Given the description of an element on the screen output the (x, y) to click on. 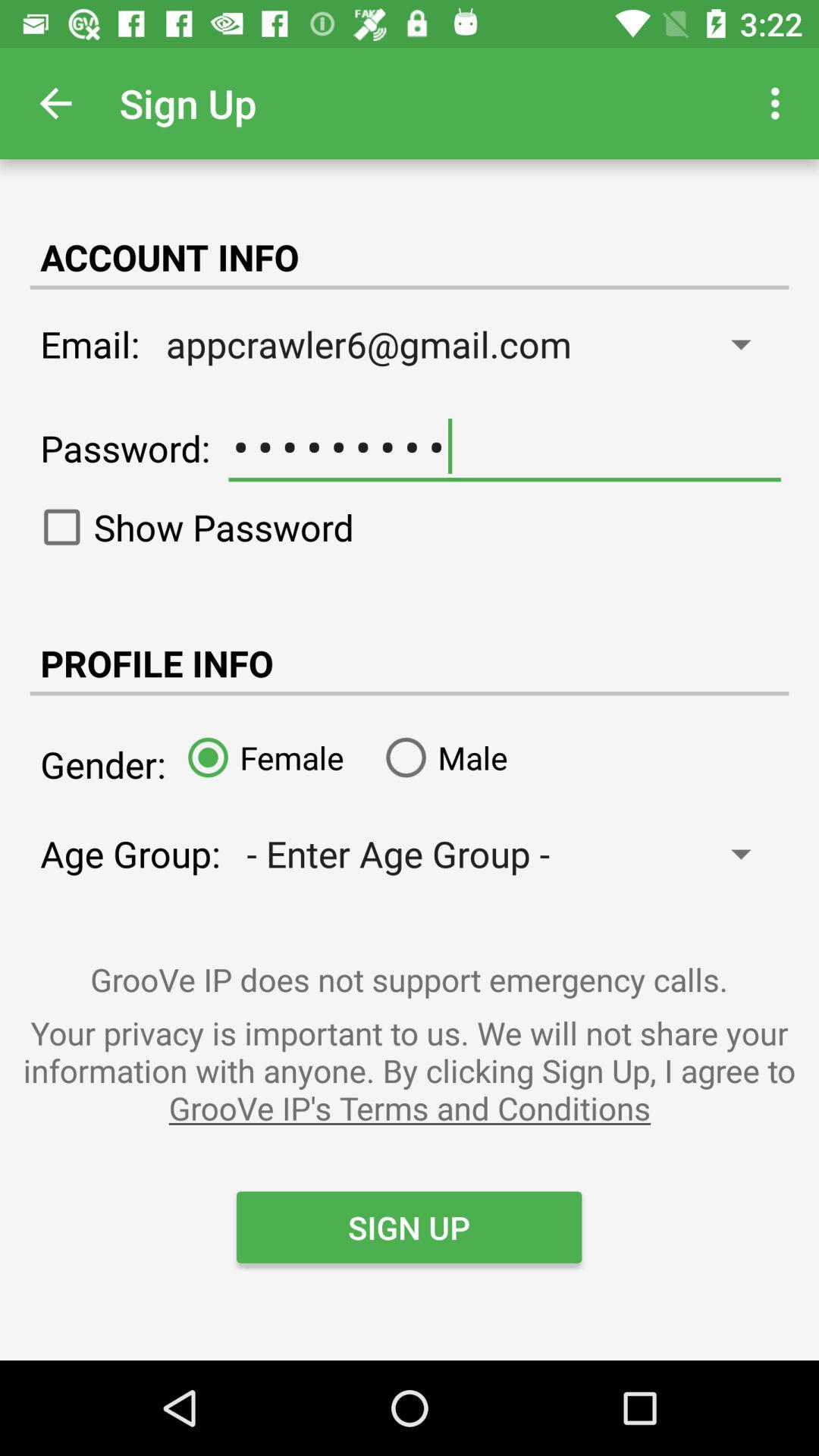
click item to the left of male icon (260, 757)
